Given the description of an element on the screen output the (x, y) to click on. 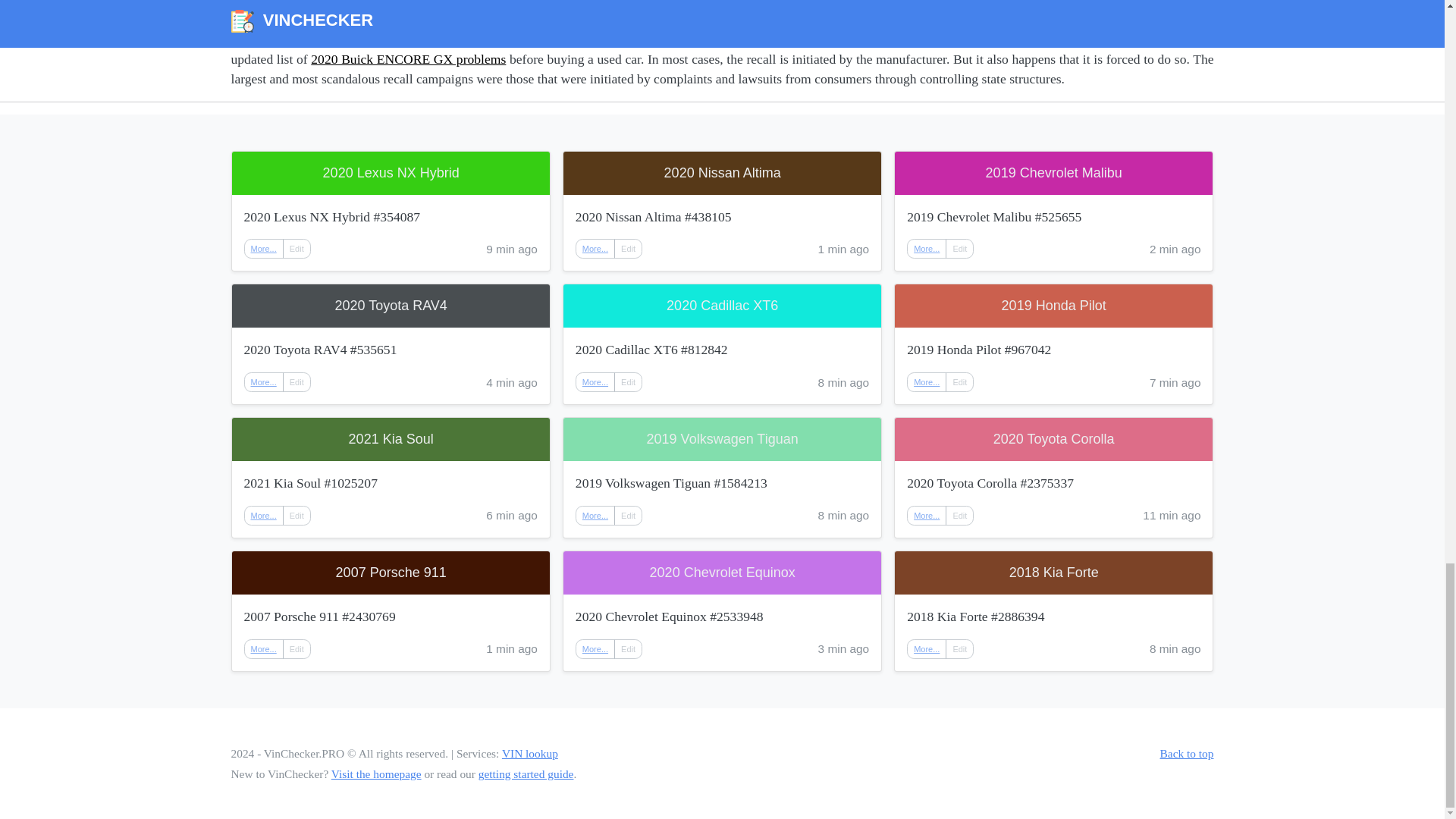
2019 Chevrolet Malibu (1053, 172)
2020 Chevrolet Equinox (721, 572)
More... (926, 249)
More... (595, 381)
More... (263, 249)
More... (263, 516)
More... (594, 382)
Edit (959, 249)
Edit (959, 516)
More... (263, 248)
2020 Toyota Corolla (1053, 439)
2019 Honda Pilot (1053, 305)
2021 Kia Soul (390, 439)
More... (926, 516)
More... (594, 249)
